Given the description of an element on the screen output the (x, y) to click on. 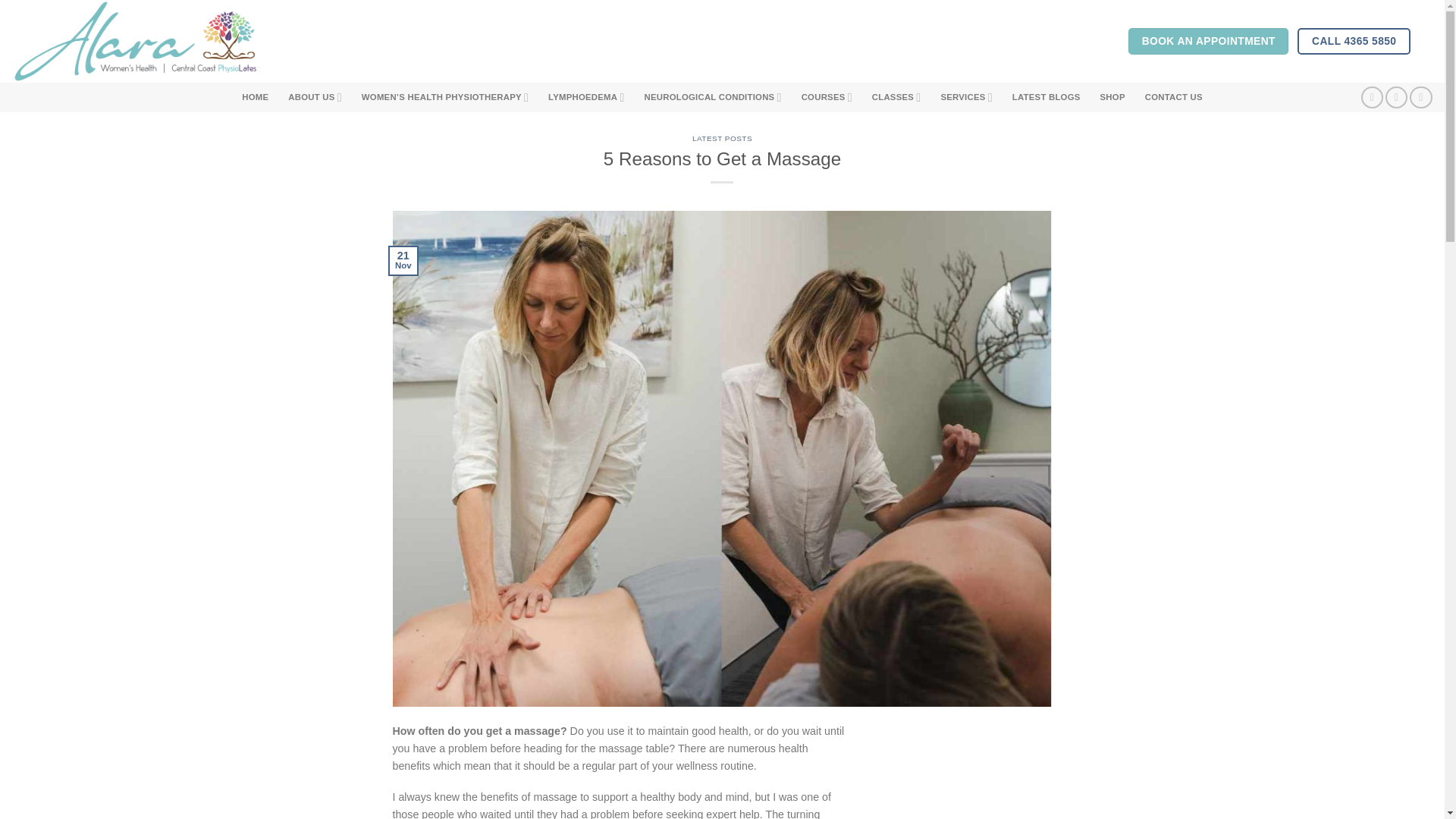
CALL 4365 5850 (1353, 40)
HOME (254, 97)
ABOUT US (315, 97)
BOOK AN APPOINTMENT (1208, 40)
Send us an email (1420, 97)
Follow on Facebook (1372, 97)
NEUROLOGICAL CONDITIONS (713, 97)
COURSES (826, 97)
Follow on Instagram (1396, 97)
